Given the description of an element on the screen output the (x, y) to click on. 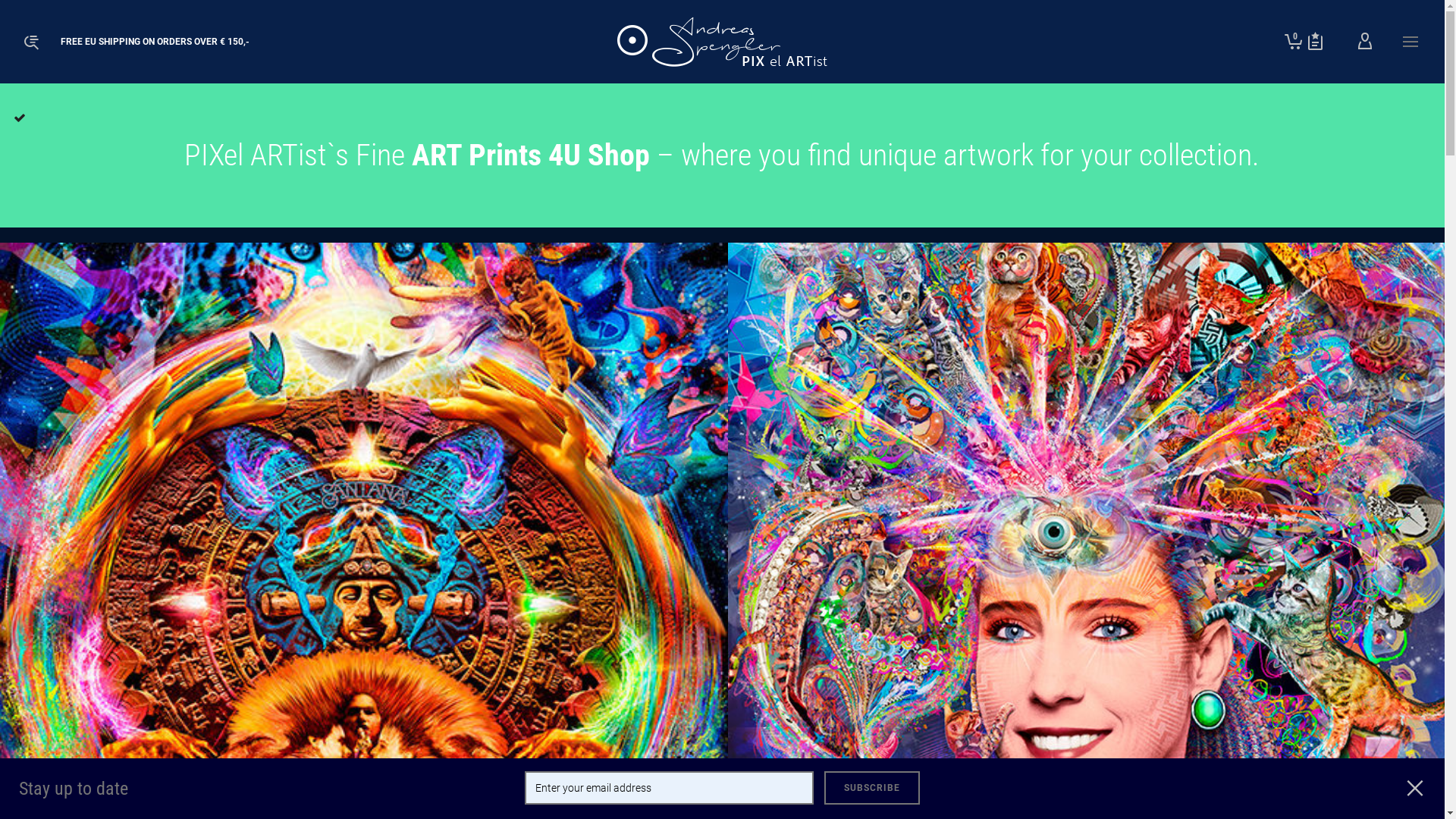
Wunschliste anzeigen Element type: hover (1315, 41)
0 Element type: text (1293, 41)
Enter your email address Element type: hover (668, 787)
SUBSCRIBE Element type: text (871, 787)
